Given the description of an element on the screen output the (x, y) to click on. 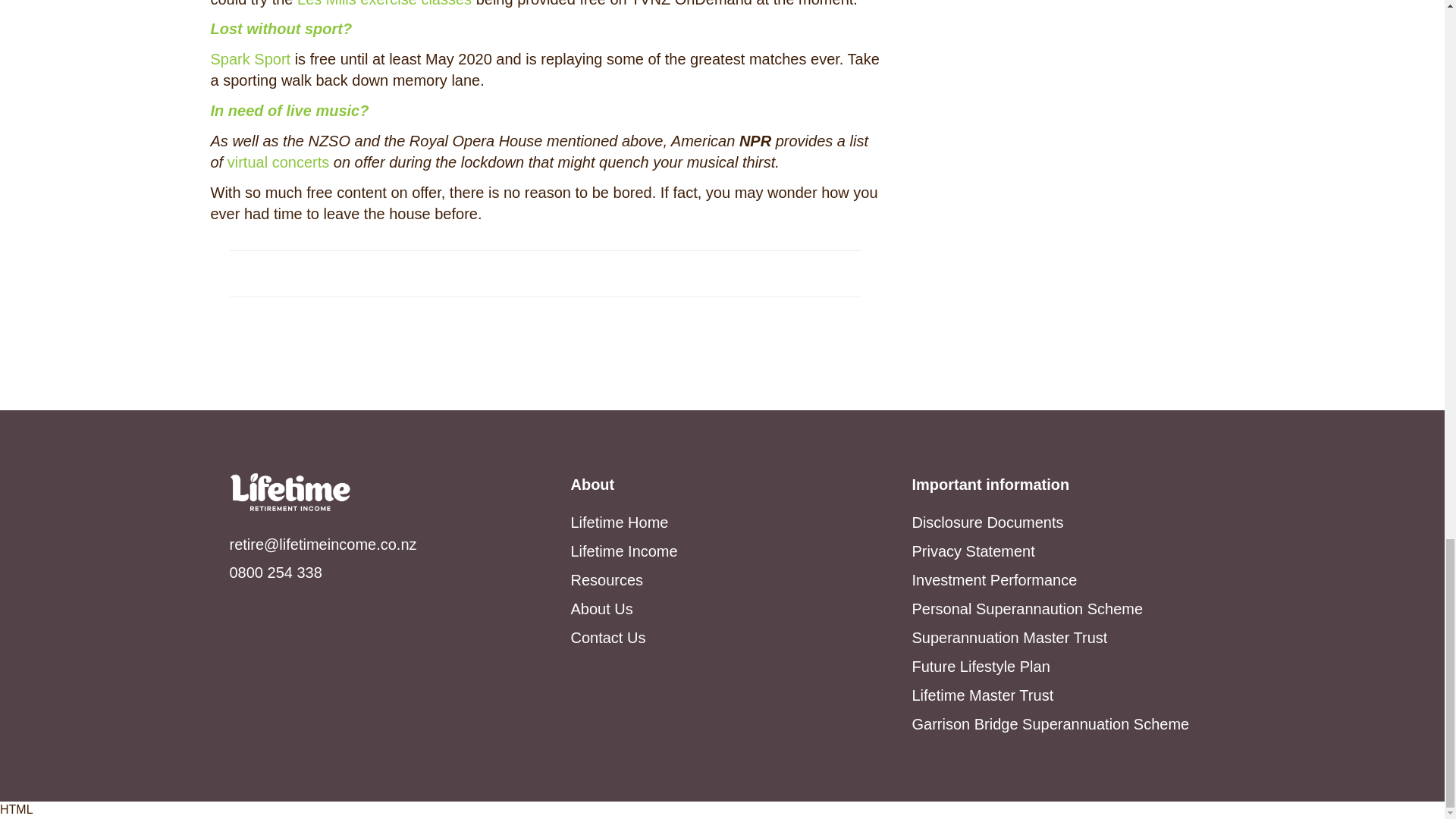
About Us (600, 608)
Contact Us (607, 637)
Lifetime Income (623, 550)
Lifetime Home (619, 522)
Resources (606, 579)
